Given the description of an element on the screen output the (x, y) to click on. 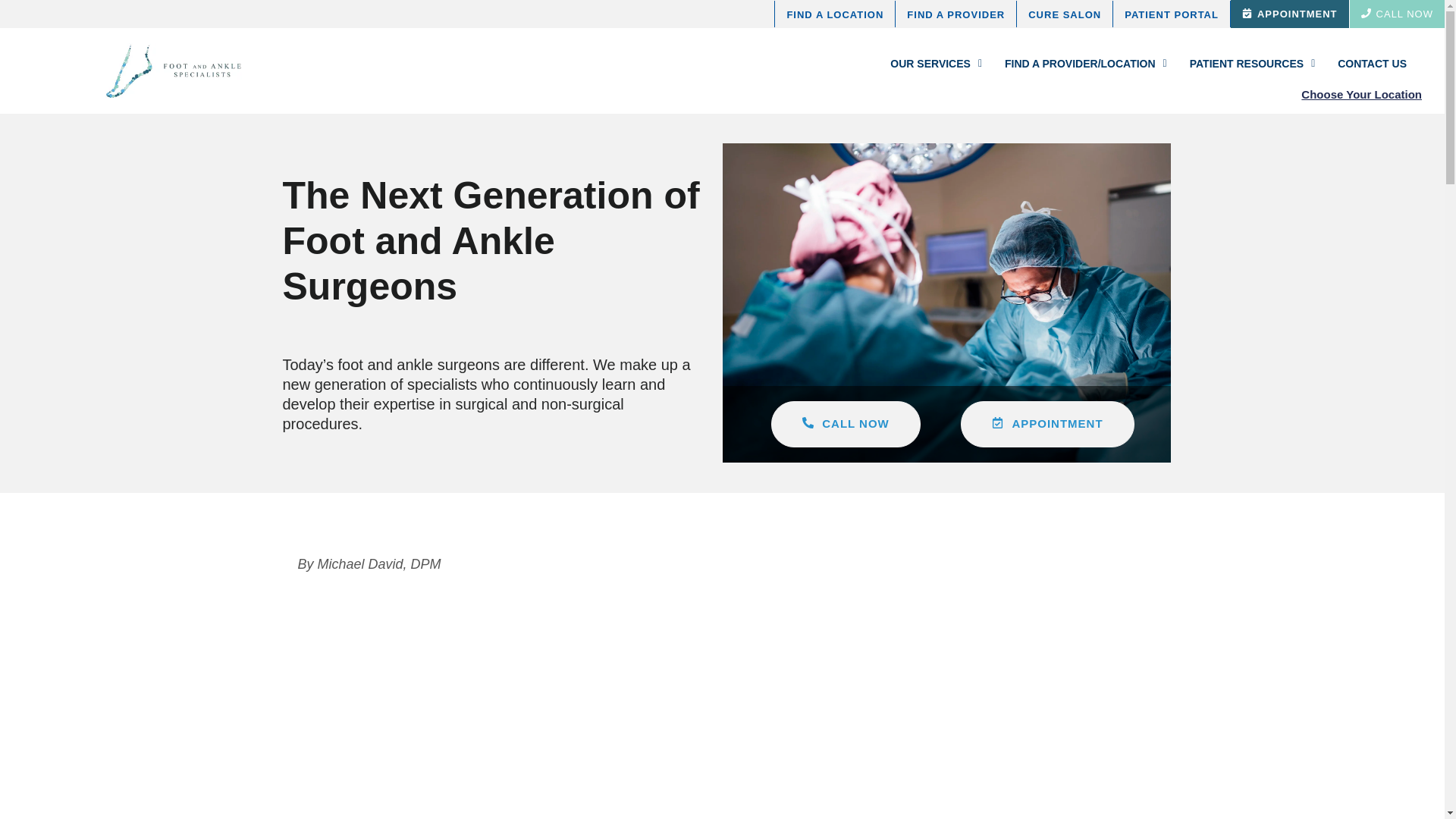
APPOINTMENT (1289, 13)
FIND A PROVIDER (955, 13)
FIND A LOCATION (834, 13)
CURE SALON (1064, 13)
PATIENT PORTAL (1171, 13)
OUR SERVICES (924, 63)
CALL NOW (1396, 13)
